Given the description of an element on the screen output the (x, y) to click on. 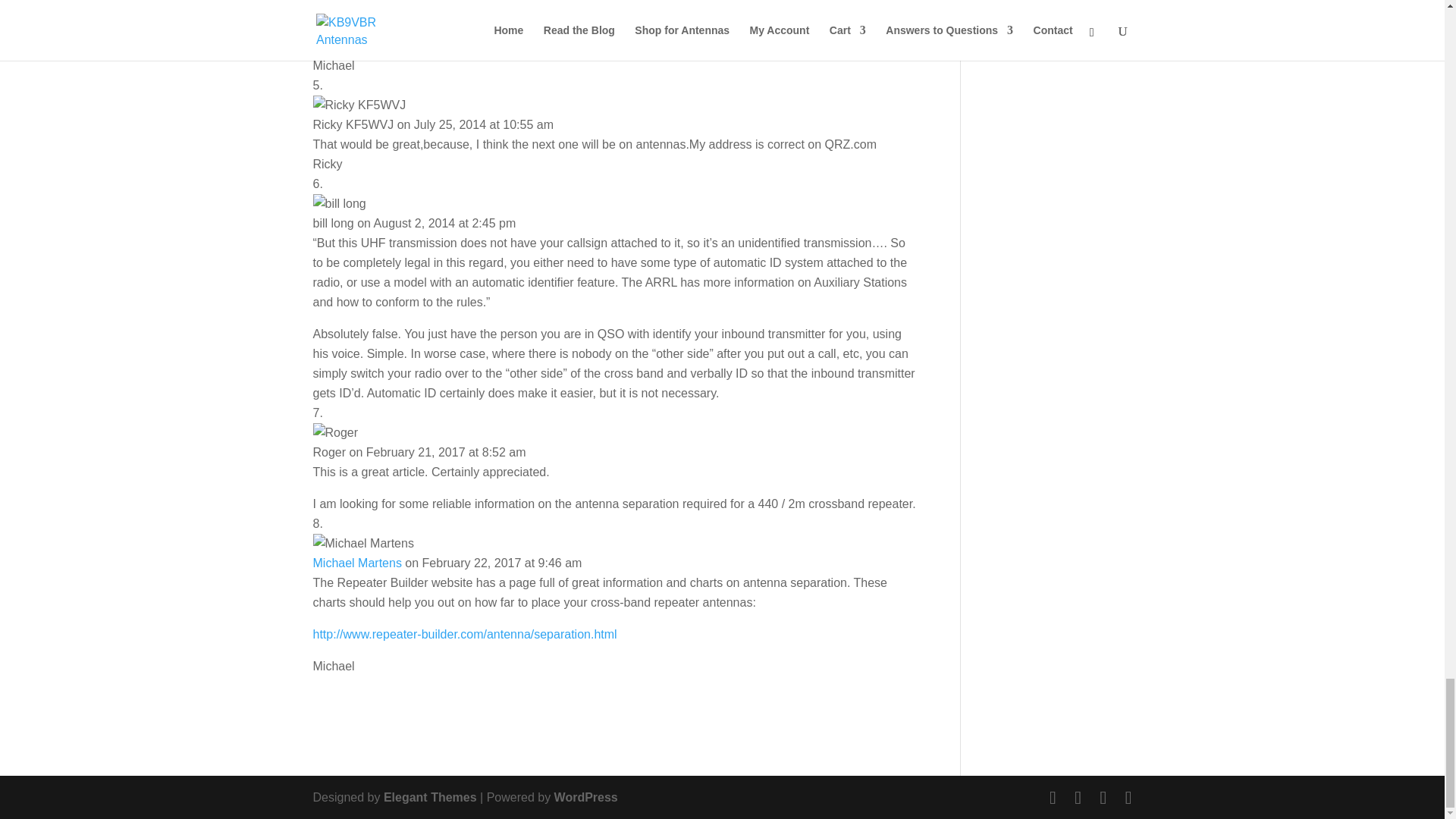
Premium WordPress Themes (430, 797)
Michael Martens (357, 562)
